Given the description of an element on the screen output the (x, y) to click on. 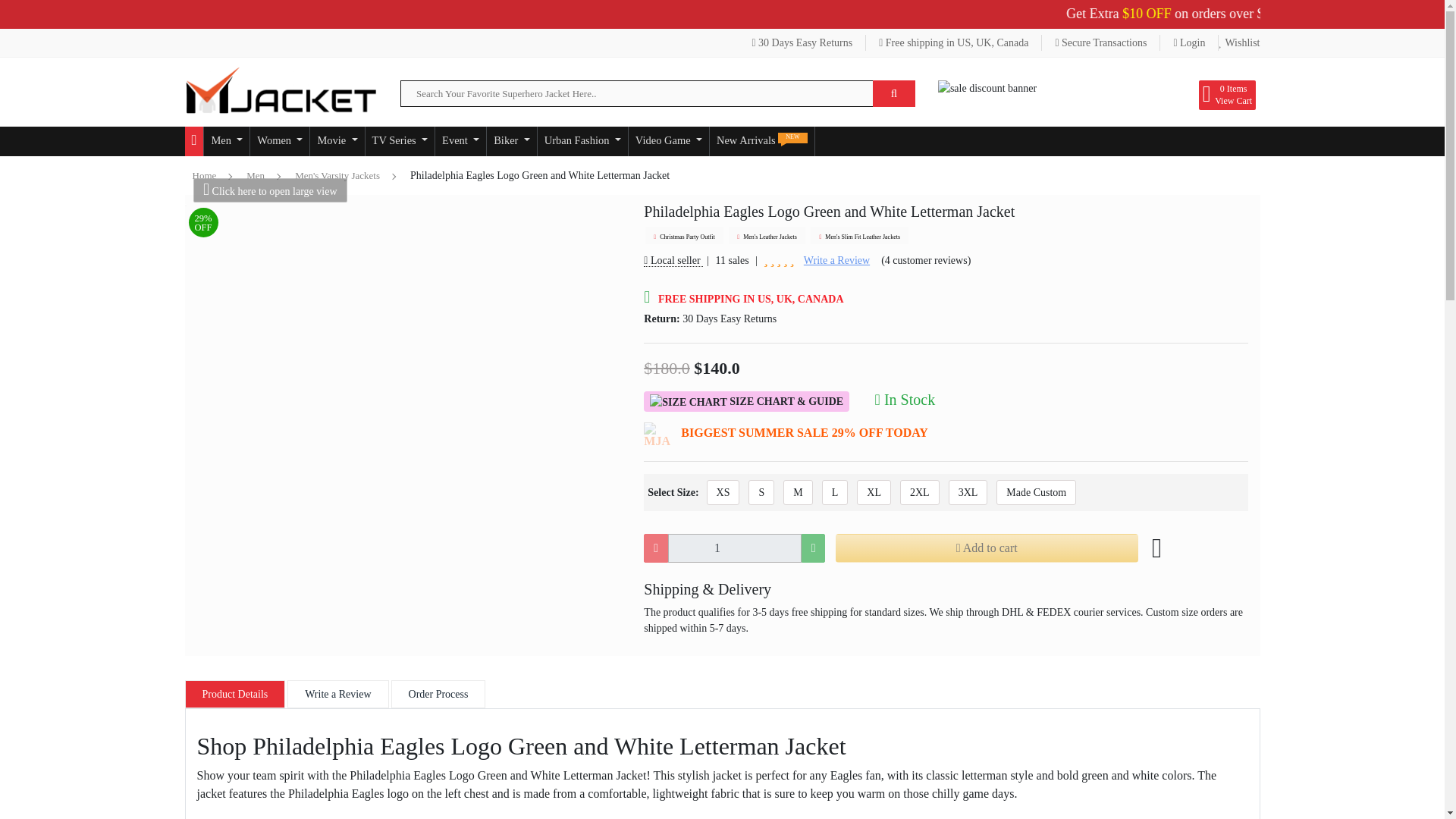
Free shipping over US, UK, Canada (954, 42)
Search Here (893, 93)
Register or Login (1189, 42)
Biker (511, 140)
Login (1189, 42)
1 (734, 547)
Free shipping in US, UK, Canada (954, 42)
TV Series (399, 140)
30 Days Easy Returns (802, 42)
New Arrivals (761, 140)
